Given the description of an element on the screen output the (x, y) to click on. 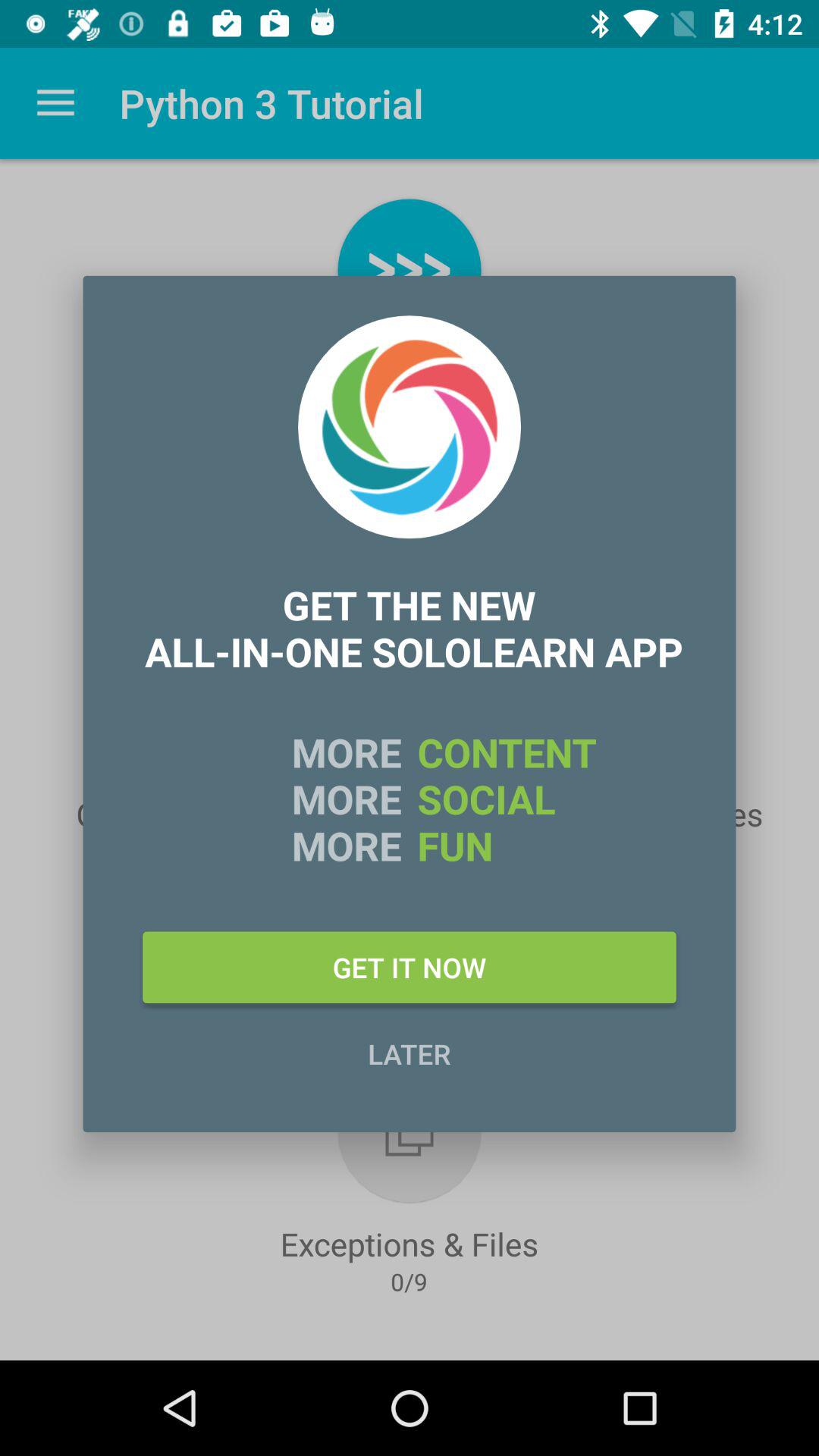
scroll until later icon (409, 1053)
